Given the description of an element on the screen output the (x, y) to click on. 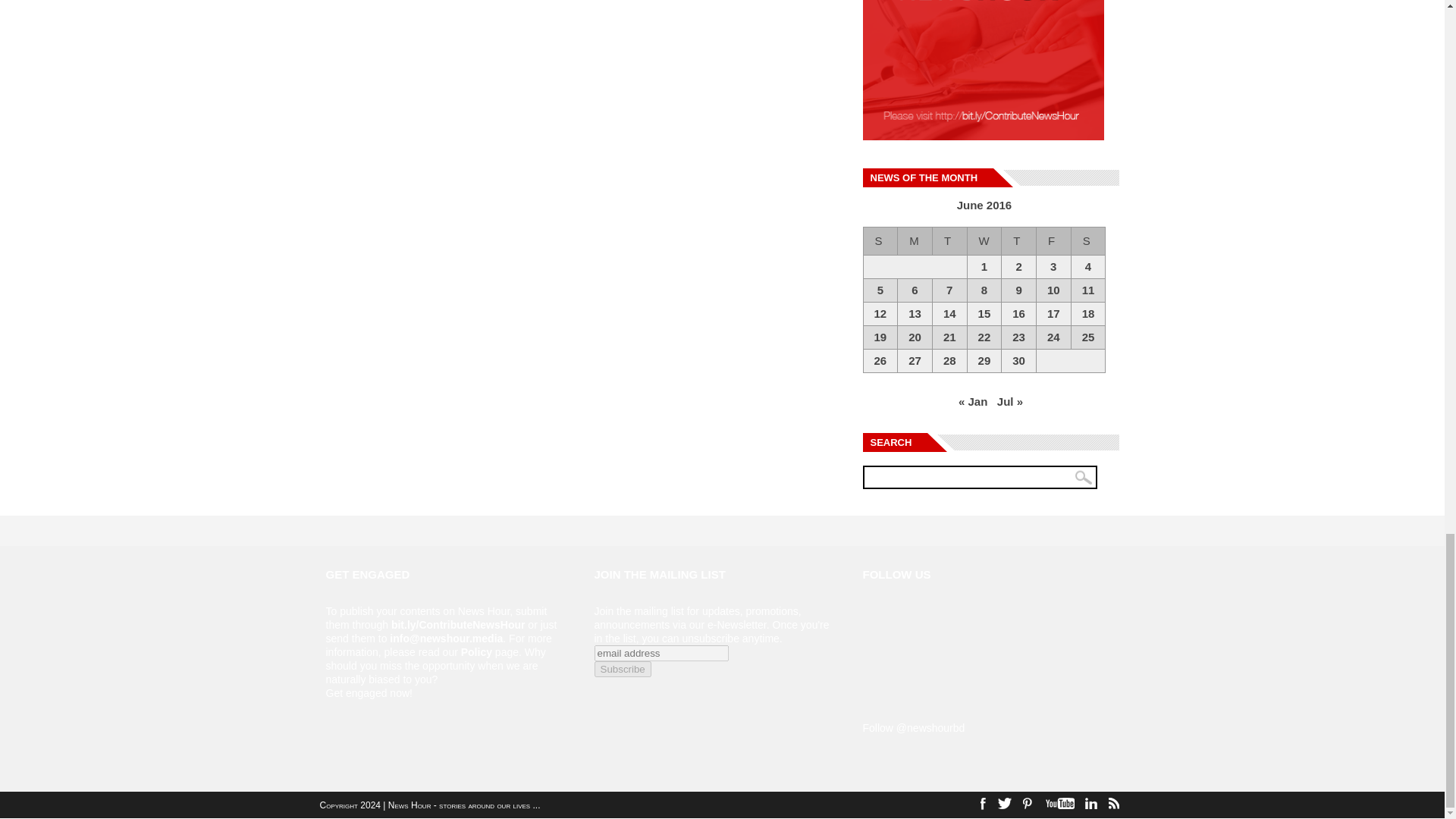
Subscribe (622, 668)
